Given the description of an element on the screen output the (x, y) to click on. 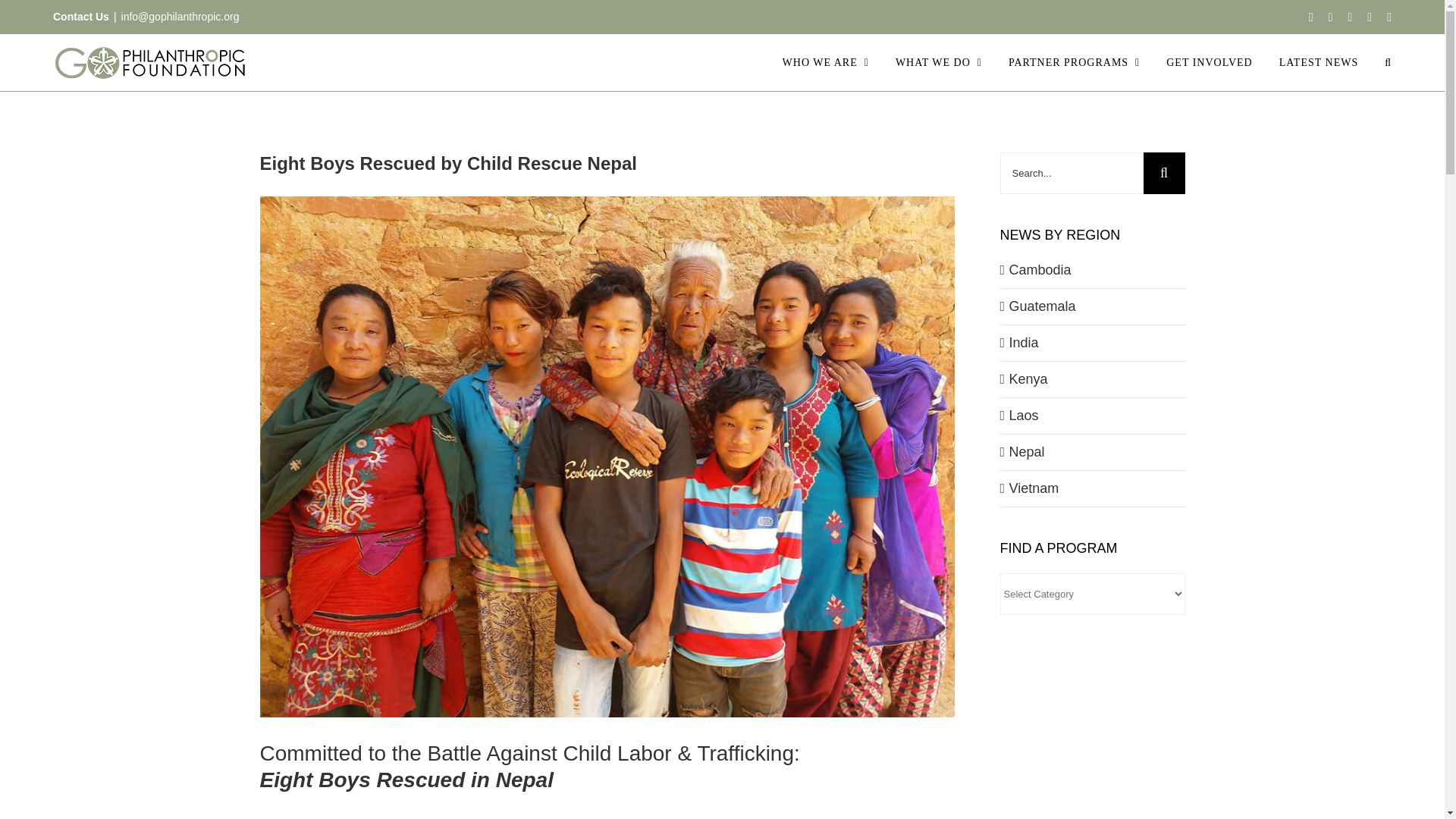
Guatemala (1042, 305)
Cambodia (1039, 269)
GET INVOLVED (1209, 61)
WHAT WE DO (938, 61)
PARTNER PROGRAMS (1074, 61)
WHO WE ARE (826, 61)
LATEST NEWS (1318, 61)
Contact Us (80, 16)
